Given the description of an element on the screen output the (x, y) to click on. 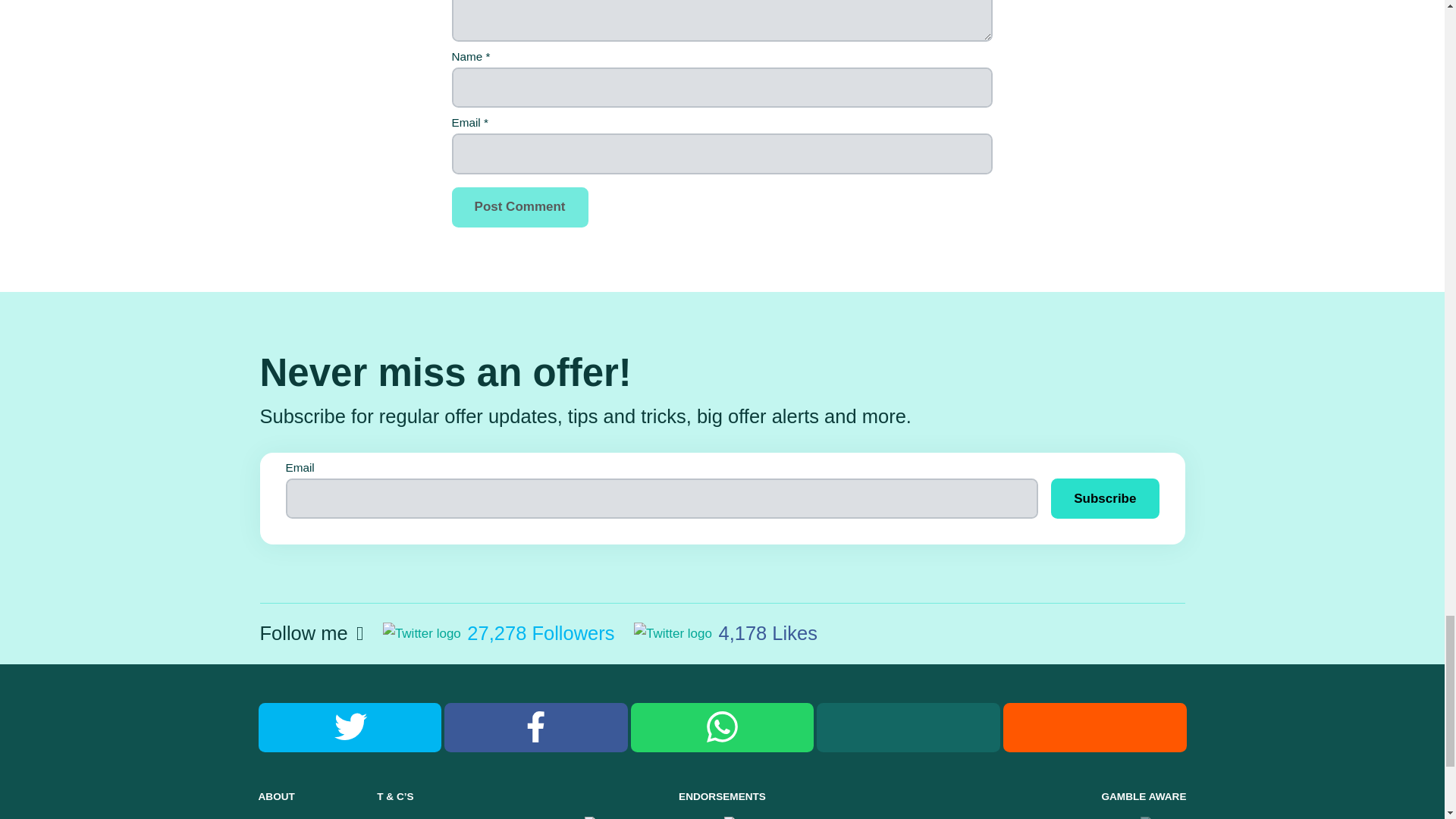
Post Comment (519, 207)
Subscribe (1104, 498)
